Given the description of an element on the screen output the (x, y) to click on. 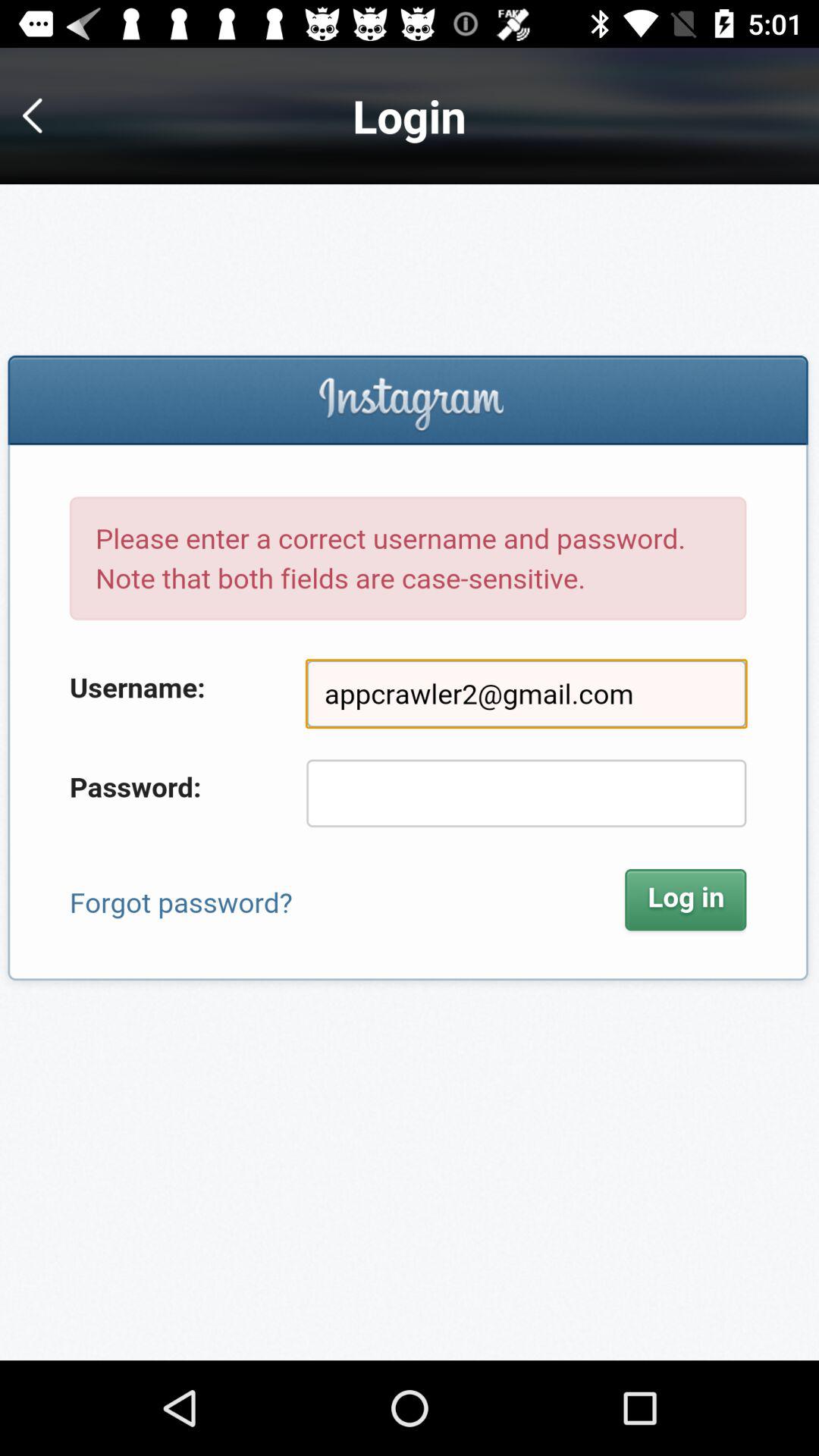
go back (43, 115)
